Given the description of an element on the screen output the (x, y) to click on. 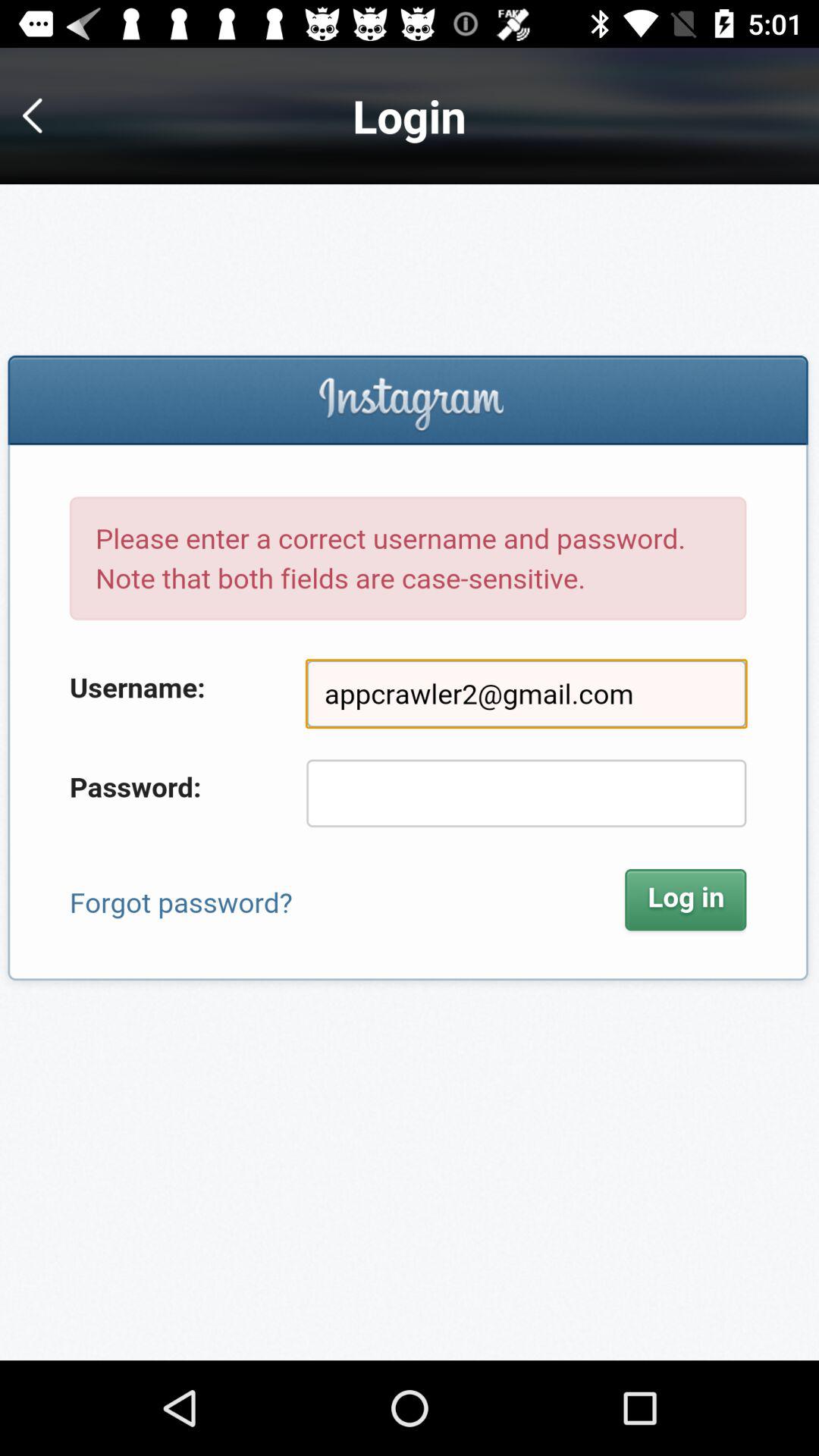
go back (43, 115)
